Given the description of an element on the screen output the (x, y) to click on. 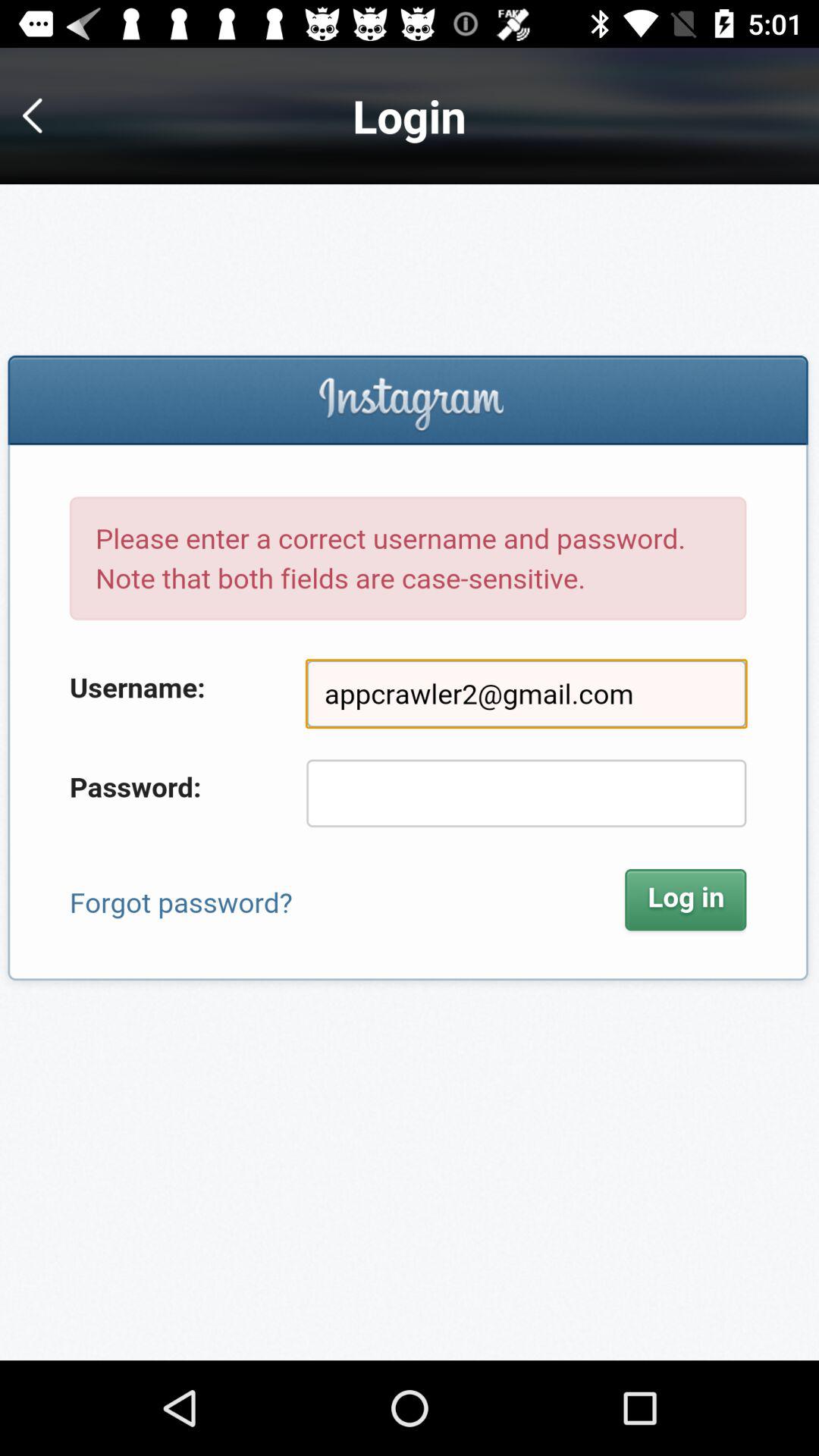
go back (43, 115)
